Given the description of an element on the screen output the (x, y) to click on. 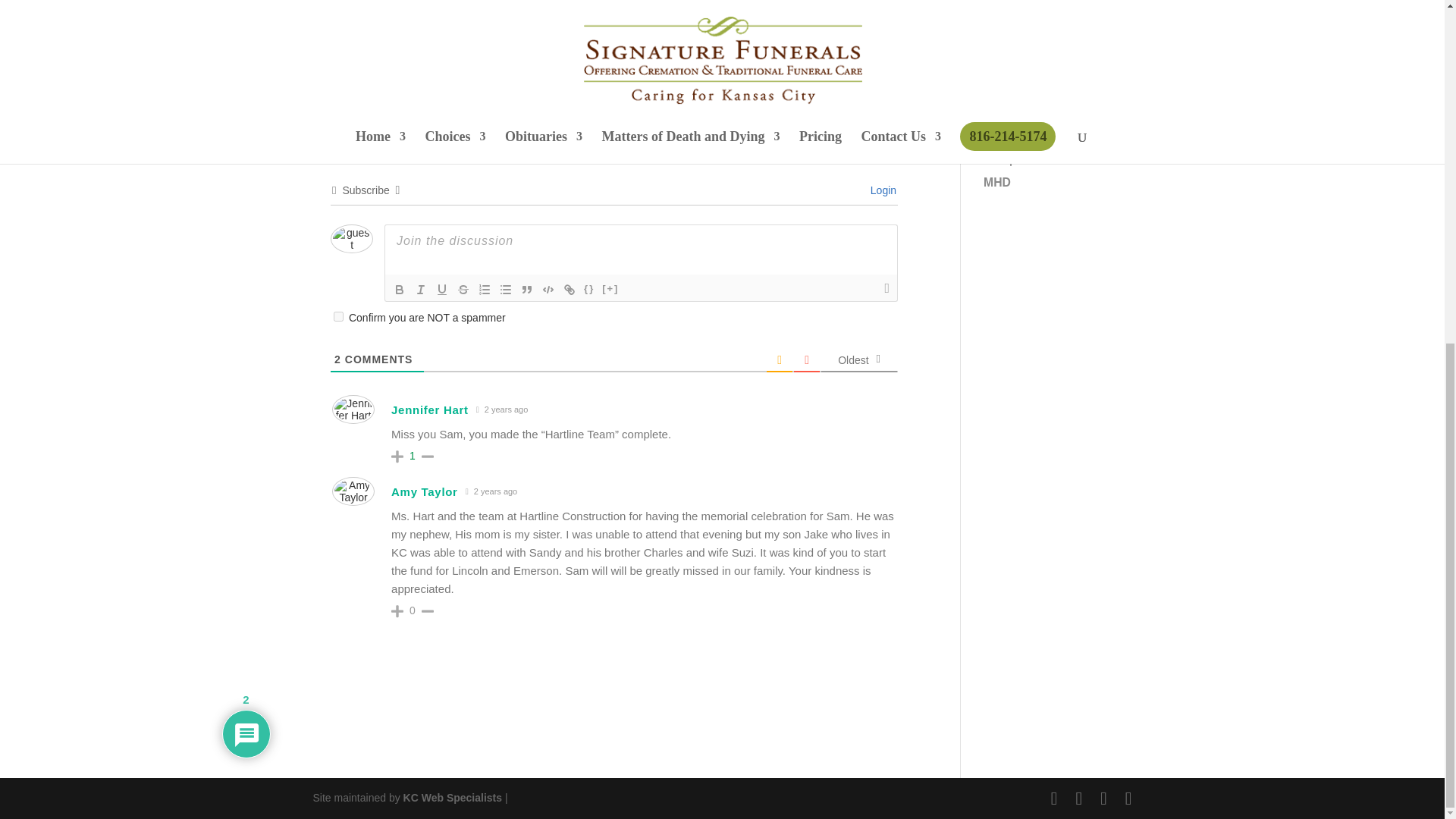
Underline (441, 289)
Ordered List (484, 289)
Source Code (588, 289)
on (338, 316)
Unordered List (505, 289)
Code Block (548, 289)
Link (569, 289)
Blockquote (526, 289)
Italic (420, 289)
Spoiler (610, 289)
Bold (399, 289)
Strike (463, 289)
